Given the description of an element on the screen output the (x, y) to click on. 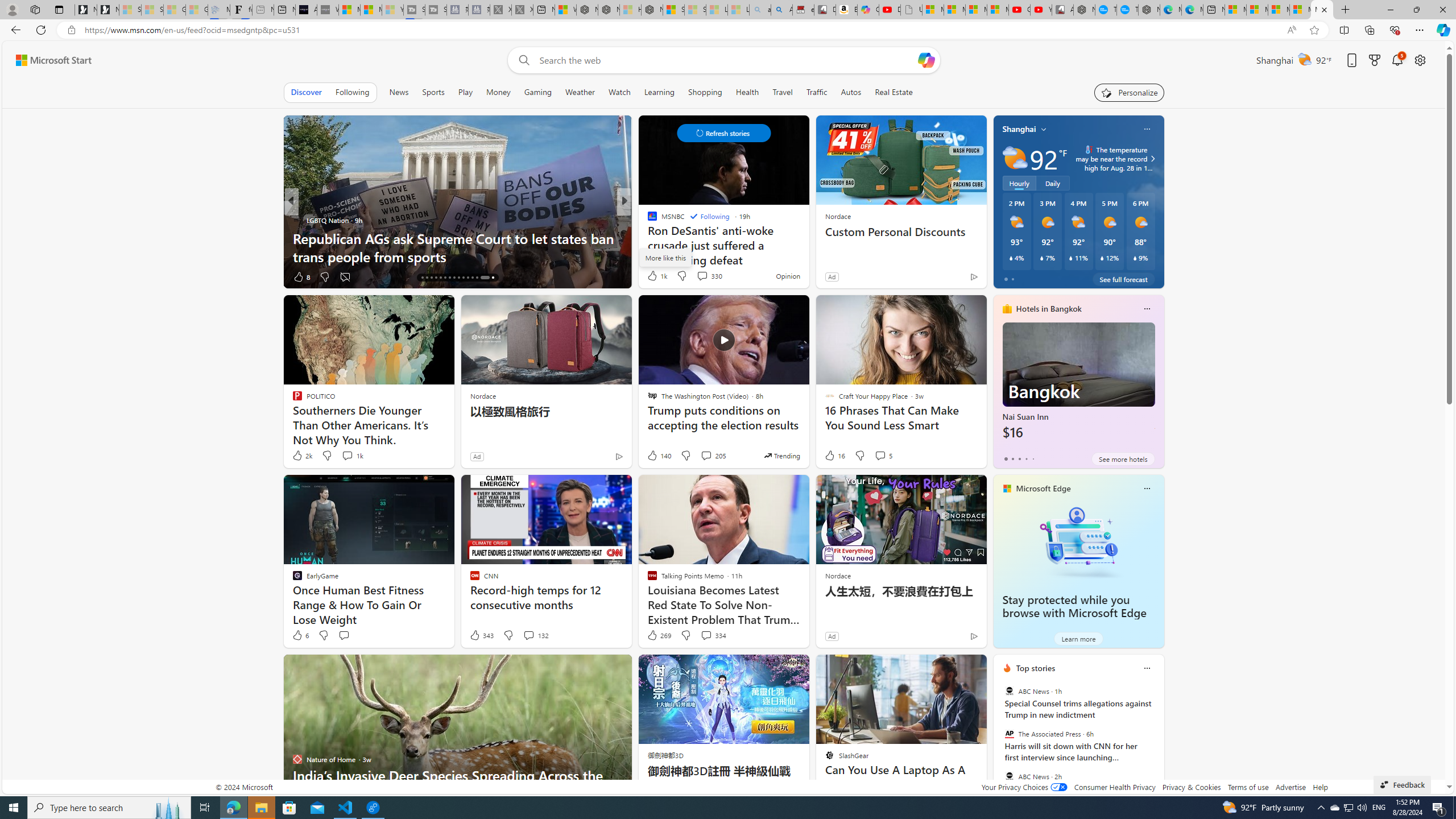
Class: control (723, 132)
View comments 266 Comment (6, 276)
My location (1043, 128)
View comments 6 Comment (6, 276)
View comments 39 Comment (6, 276)
